Given the description of an element on the screen output the (x, y) to click on. 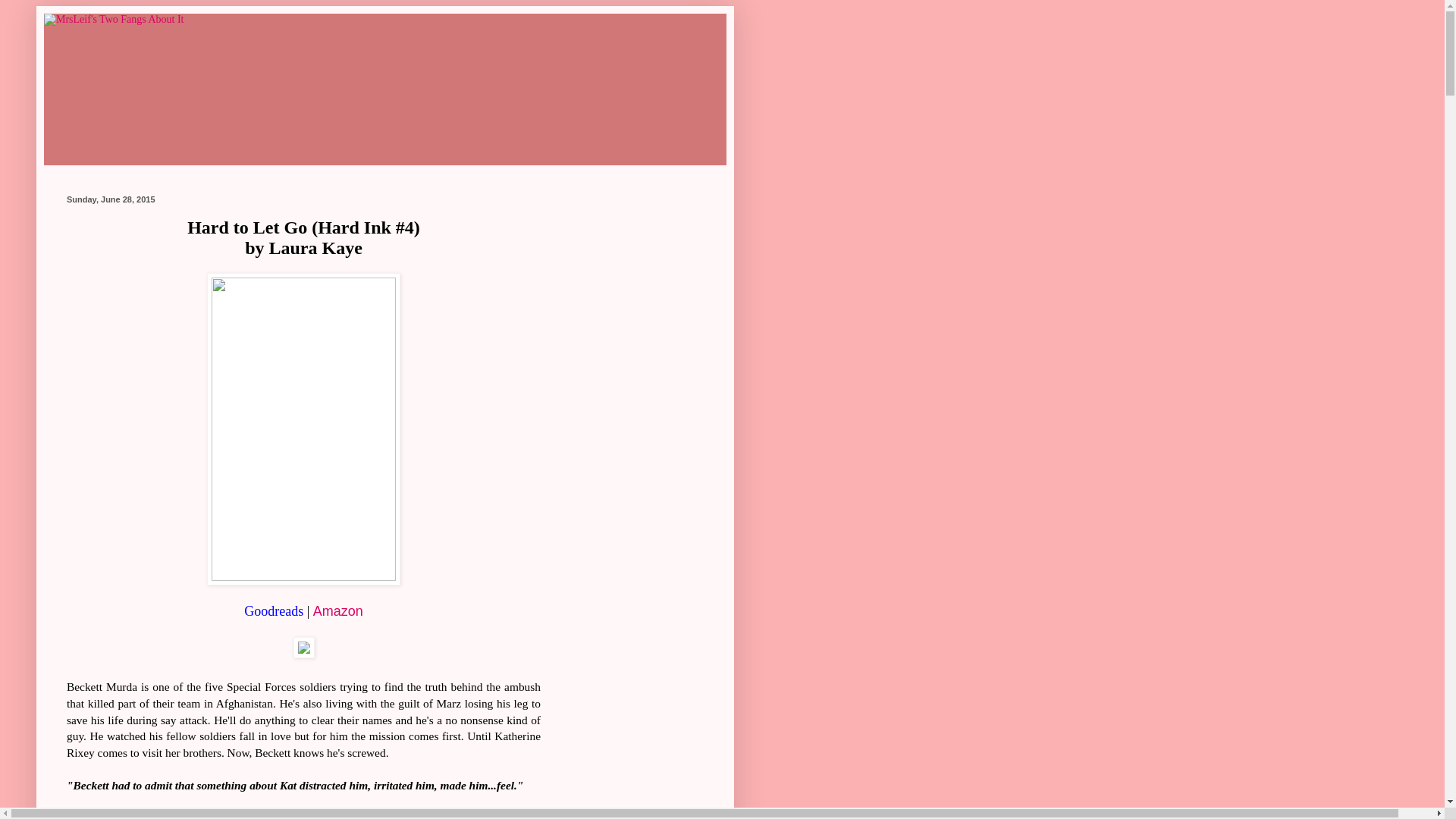
Goodreads (273, 611)
Amazon (337, 611)
